Given the description of an element on the screen output the (x, y) to click on. 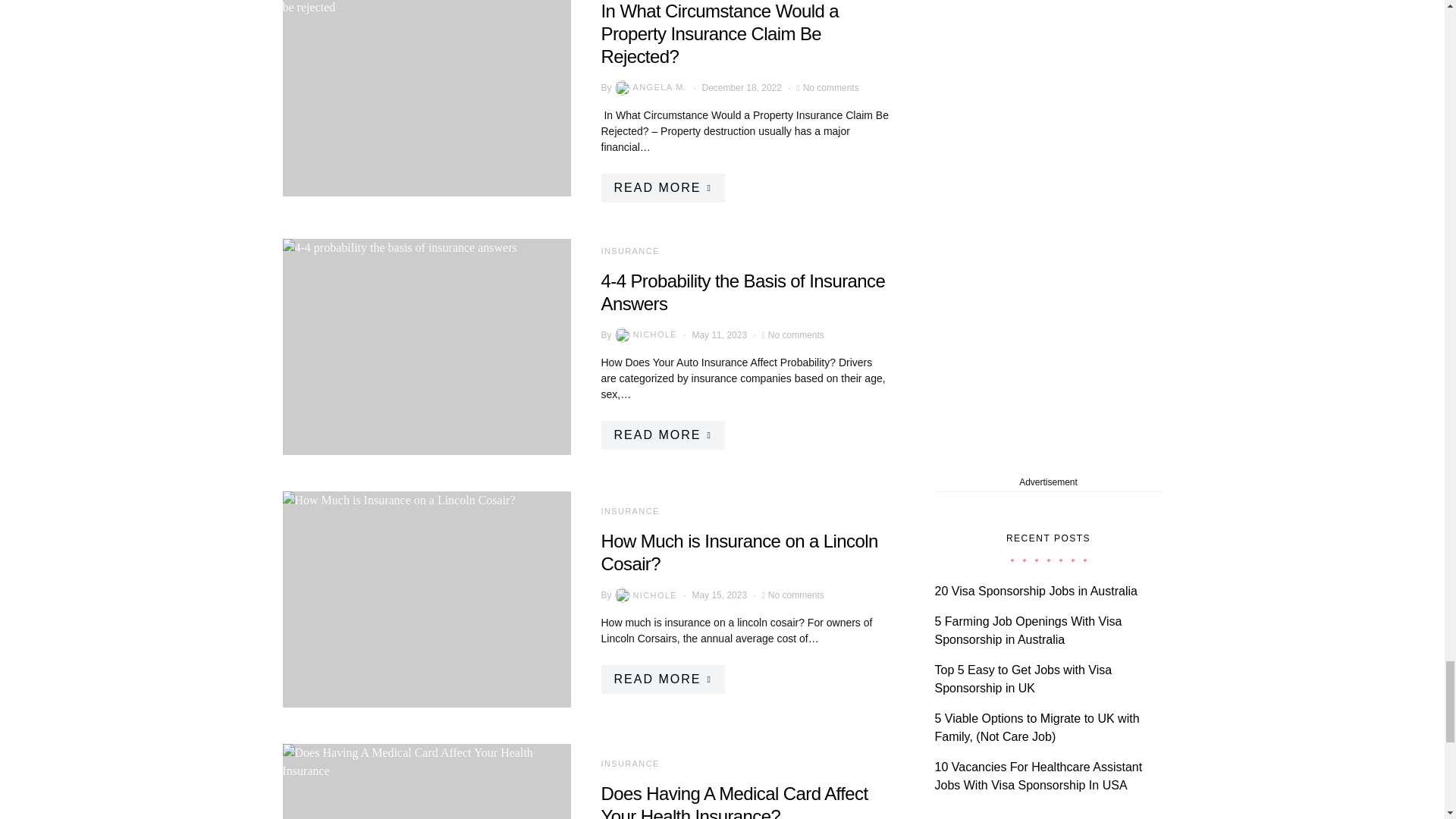
View all posts by Nichole (644, 335)
View all posts by Nichole (644, 595)
View all posts by Angela M. (649, 87)
